Given the description of an element on the screen output the (x, y) to click on. 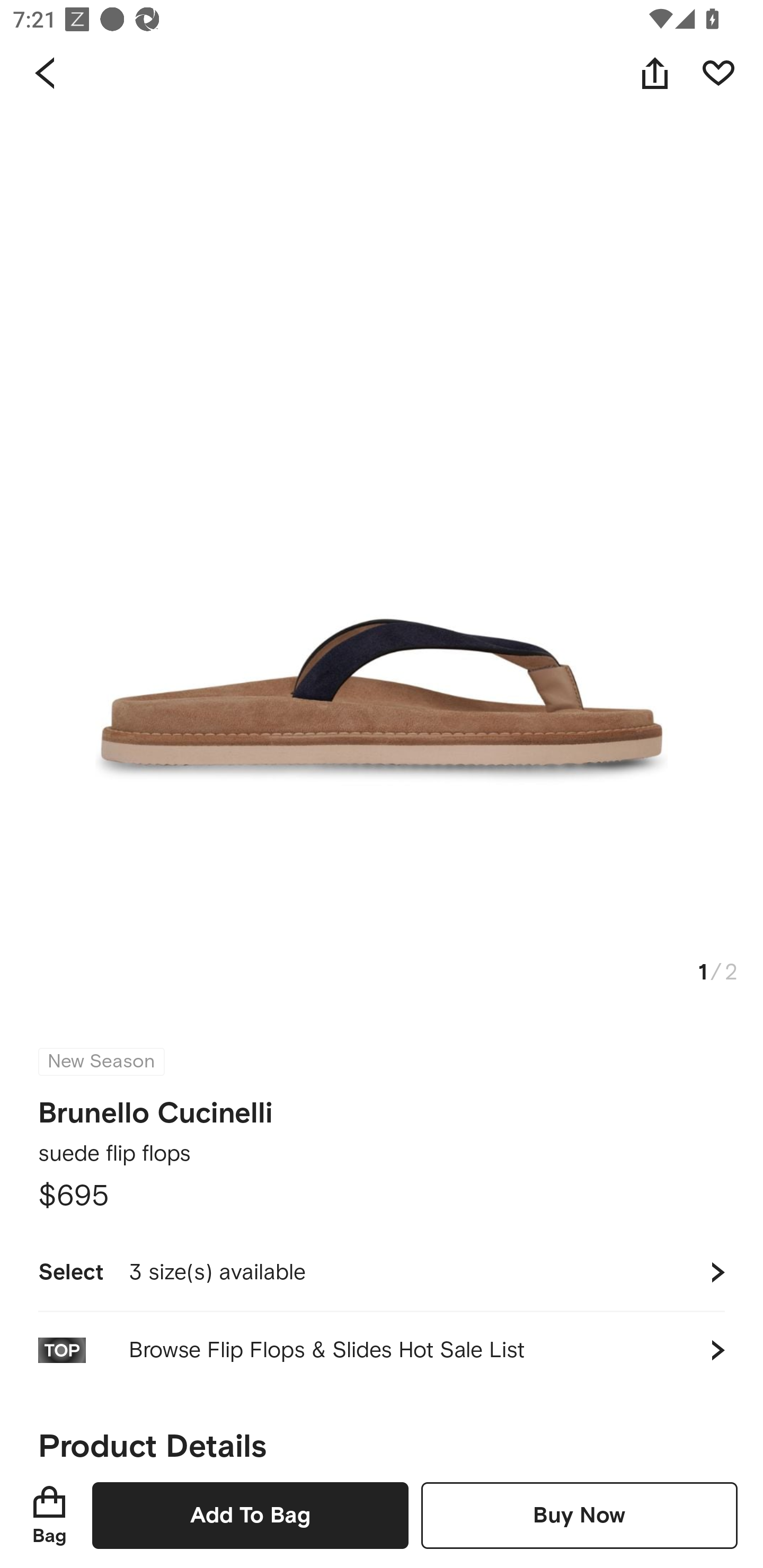
Brunello Cucinelli (155, 1113)
Select 3 size(s) available (381, 1272)
Browse Flip Flops & Slides Hot Sale List (381, 1349)
Bag (49, 1515)
Add To Bag (250, 1515)
Buy Now (579, 1515)
